Given the description of an element on the screen output the (x, y) to click on. 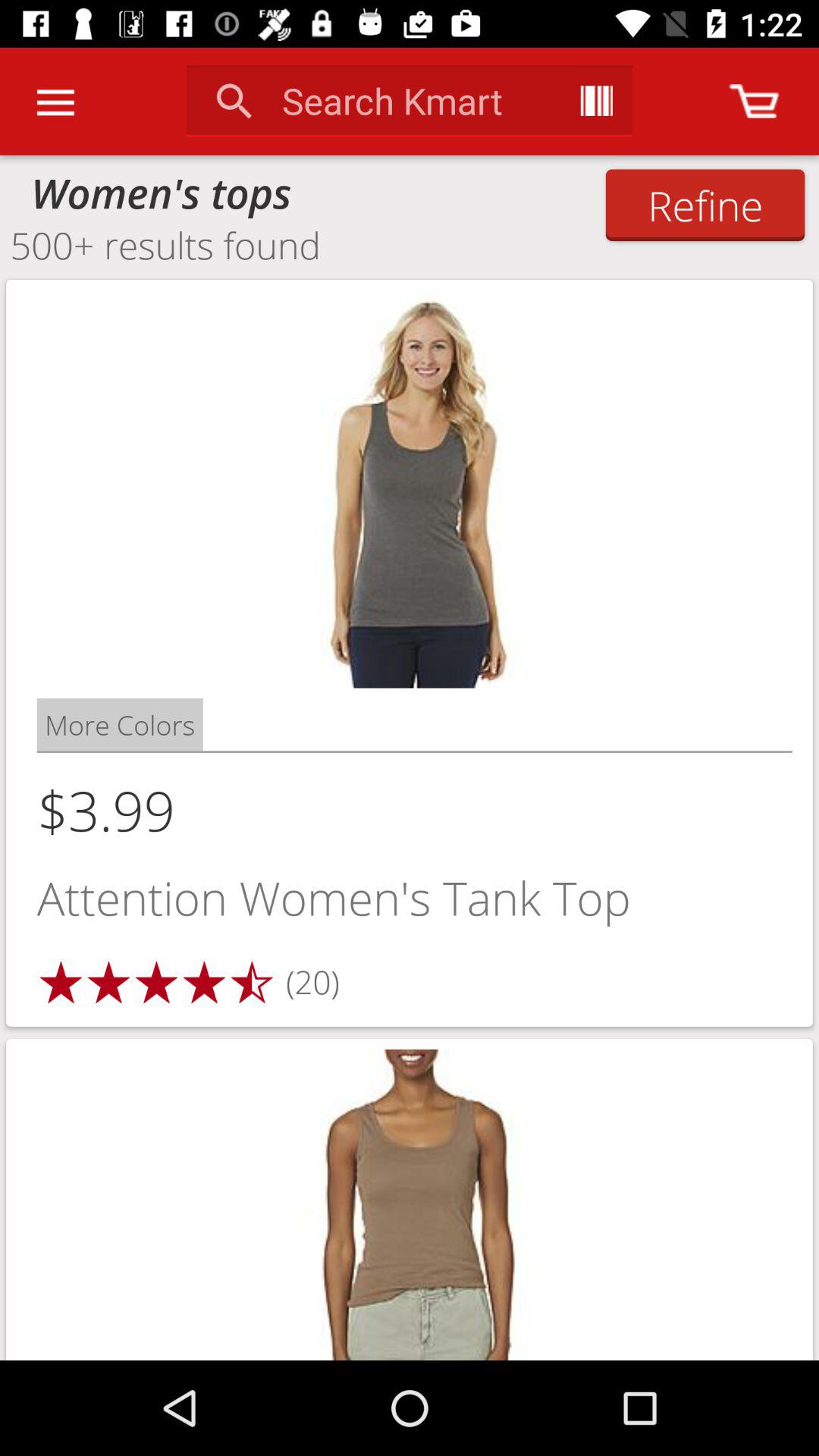
scan barcode option (596, 100)
